Given the description of an element on the screen output the (x, y) to click on. 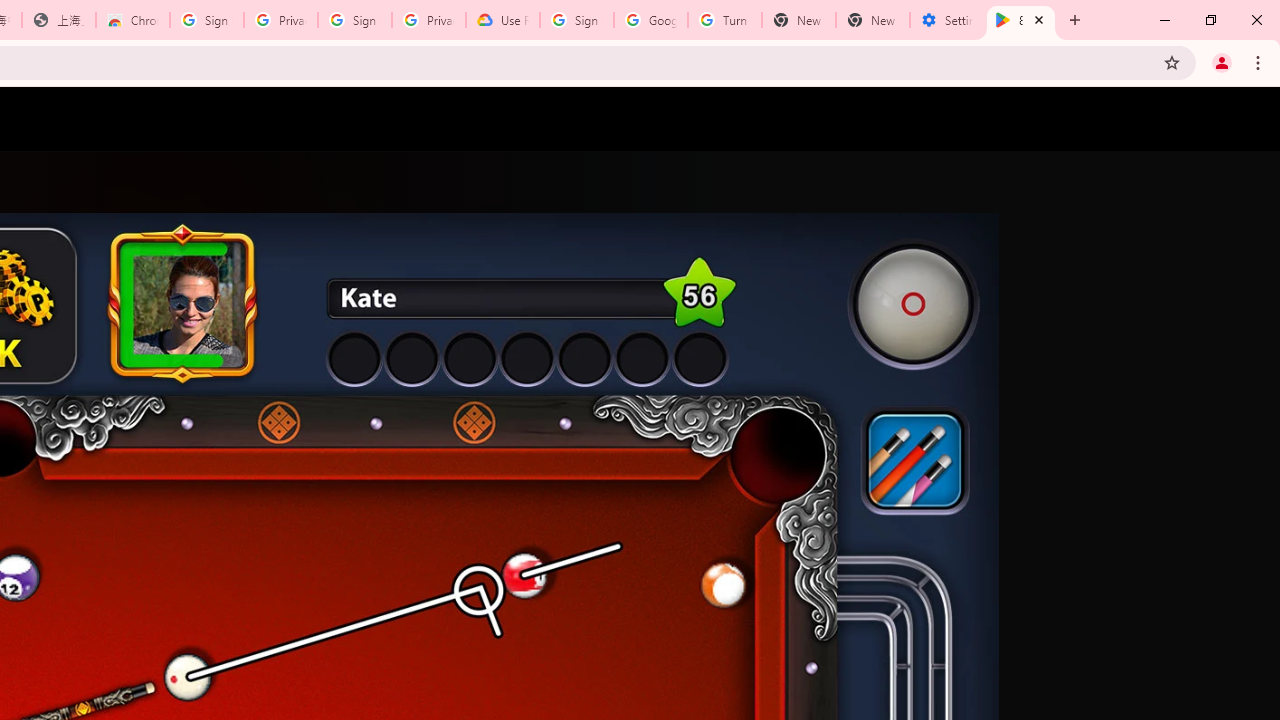
Settings - System (947, 20)
Sign in - Google Accounts (577, 20)
Google Account Help (651, 20)
New Tab (872, 20)
Open account menu (1245, 119)
Chrome Web Store - Color themes by Chrome (133, 20)
